Given the description of an element on the screen output the (x, y) to click on. 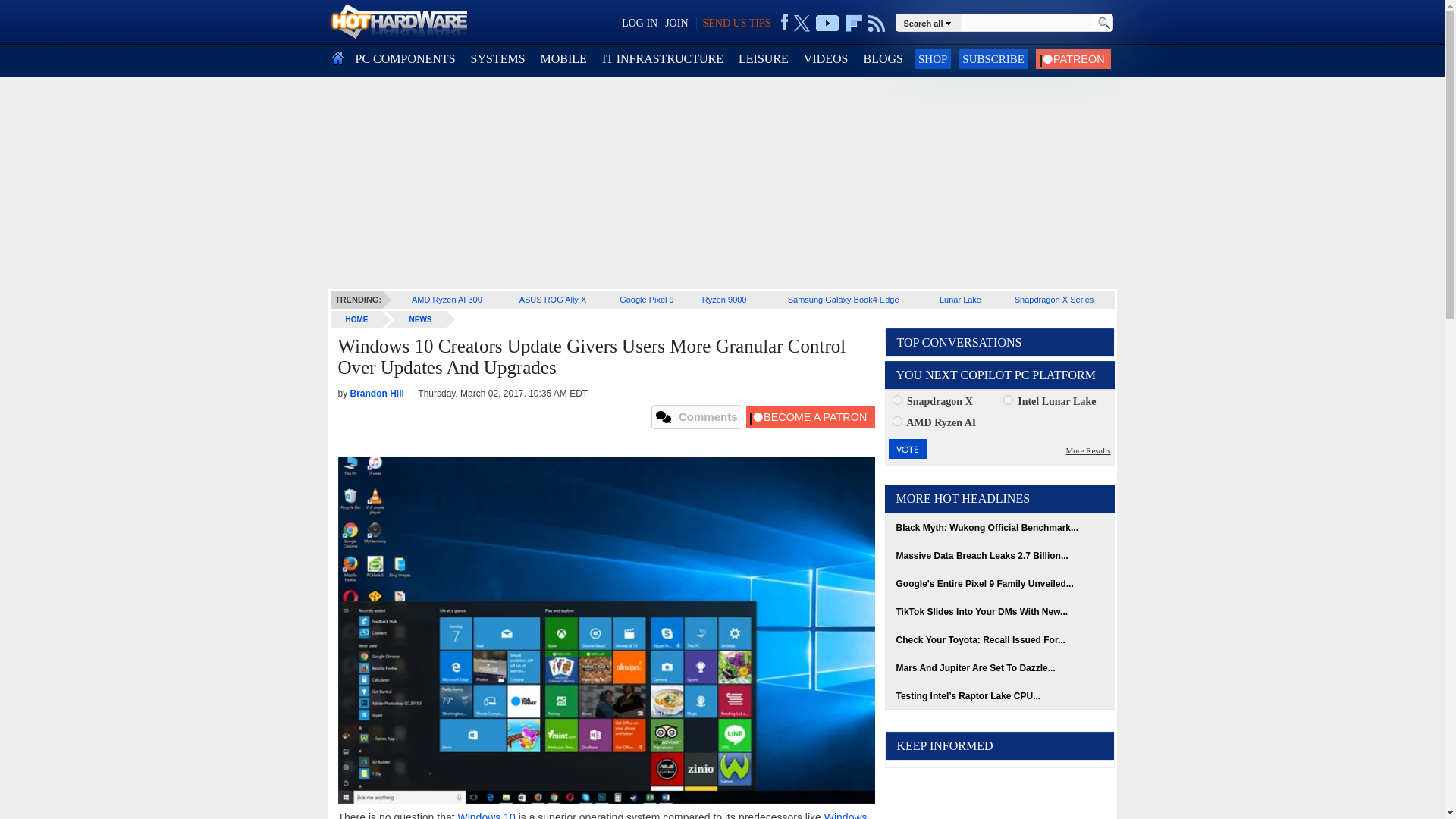
759 (896, 420)
758 (1008, 399)
Comments (696, 416)
JOIN (676, 22)
PC COMPONENTS (405, 58)
757 (896, 399)
SIGN OUT (39, 18)
Go (1103, 22)
keyword (1028, 21)
Blogs (883, 58)
